Given the description of an element on the screen output the (x, y) to click on. 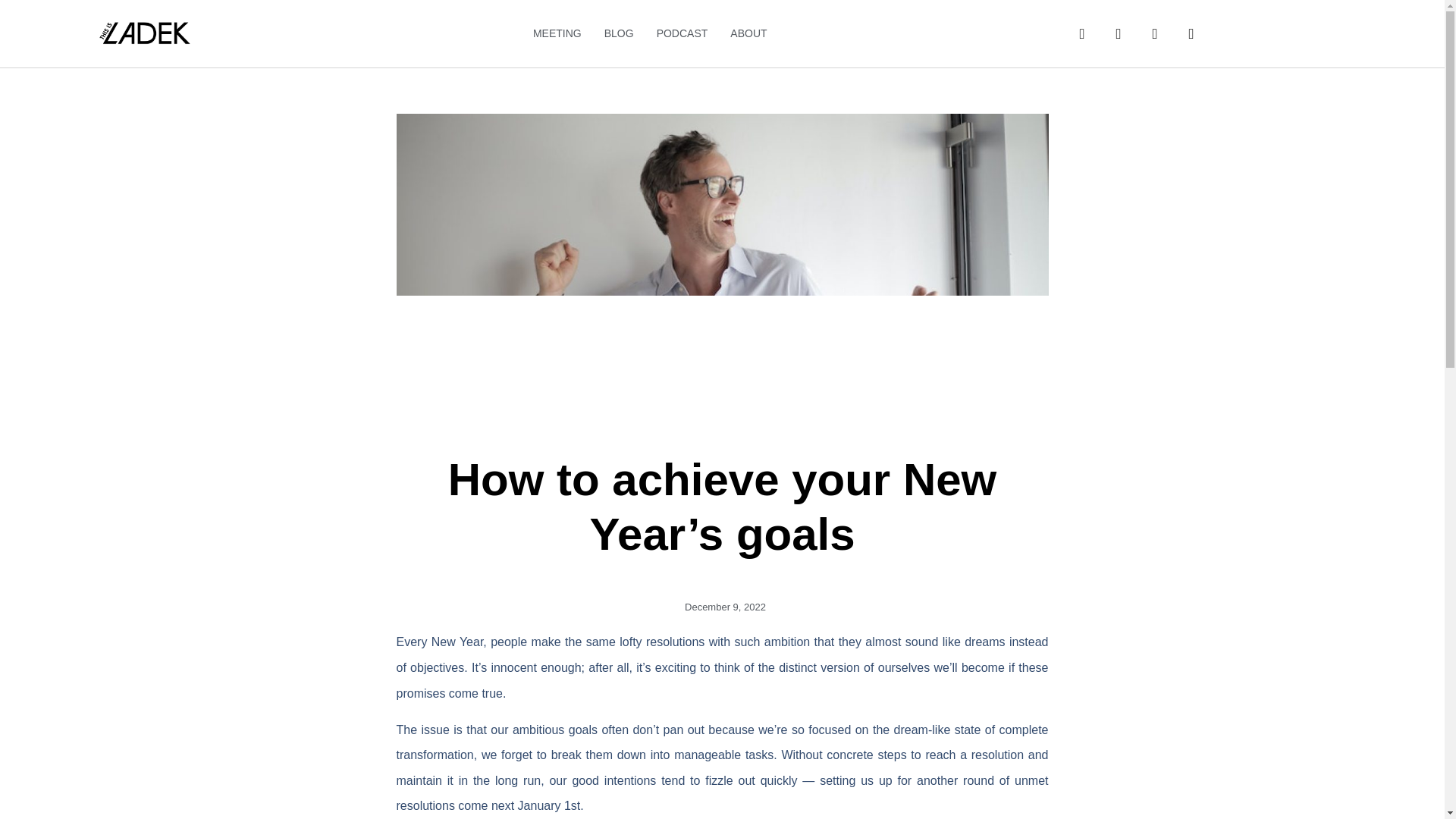
December 9, 2022 (721, 607)
BLOG (619, 33)
ABOUT (748, 33)
MEETING (557, 33)
PODCAST (682, 33)
